Given the description of an element on the screen output the (x, y) to click on. 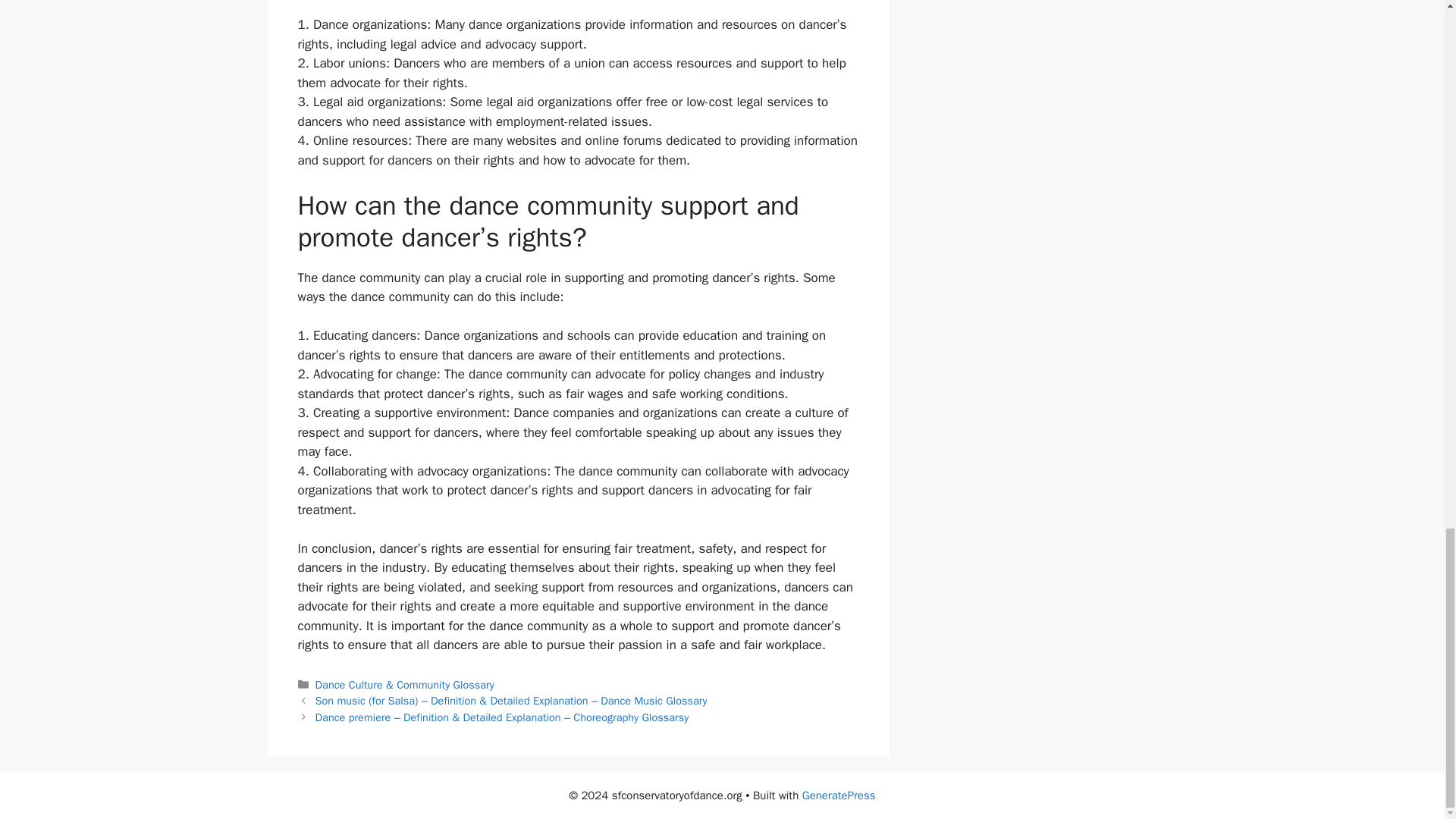
GeneratePress (839, 795)
